Given the description of an element on the screen output the (x, y) to click on. 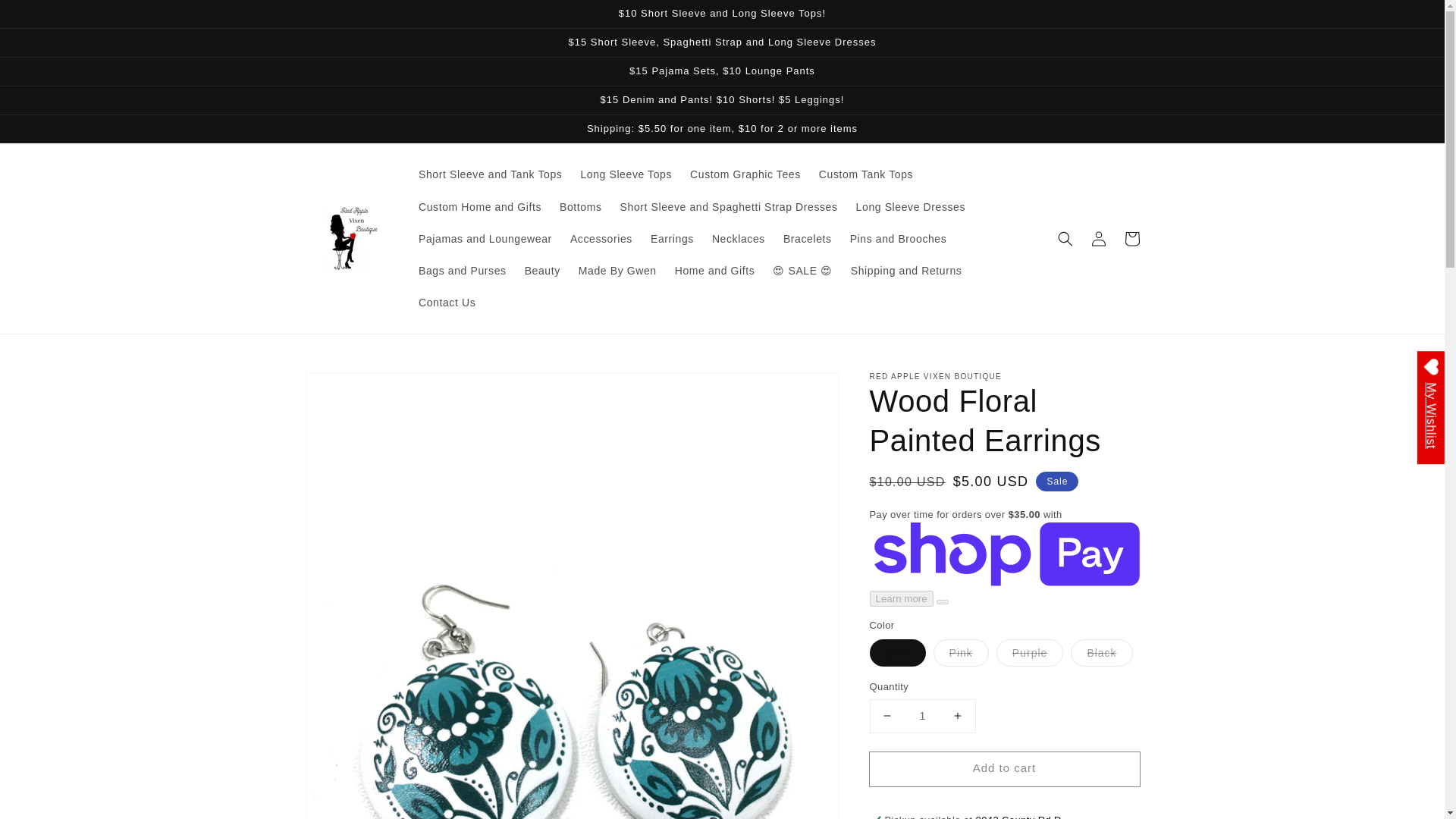
Custom Graphic Tees (745, 174)
Custom Tank Tops (865, 174)
Long Sleeve Dresses (910, 206)
Necklaces (738, 238)
Beauty (542, 270)
1 (922, 716)
Long Sleeve Tops (625, 174)
Bottoms (580, 206)
Short Sleeve and Tank Tops (489, 174)
Pins and Brooches (898, 238)
Bracelets (807, 238)
Accessories (601, 238)
Custom Home and Gifts (479, 206)
